Given the description of an element on the screen output the (x, y) to click on. 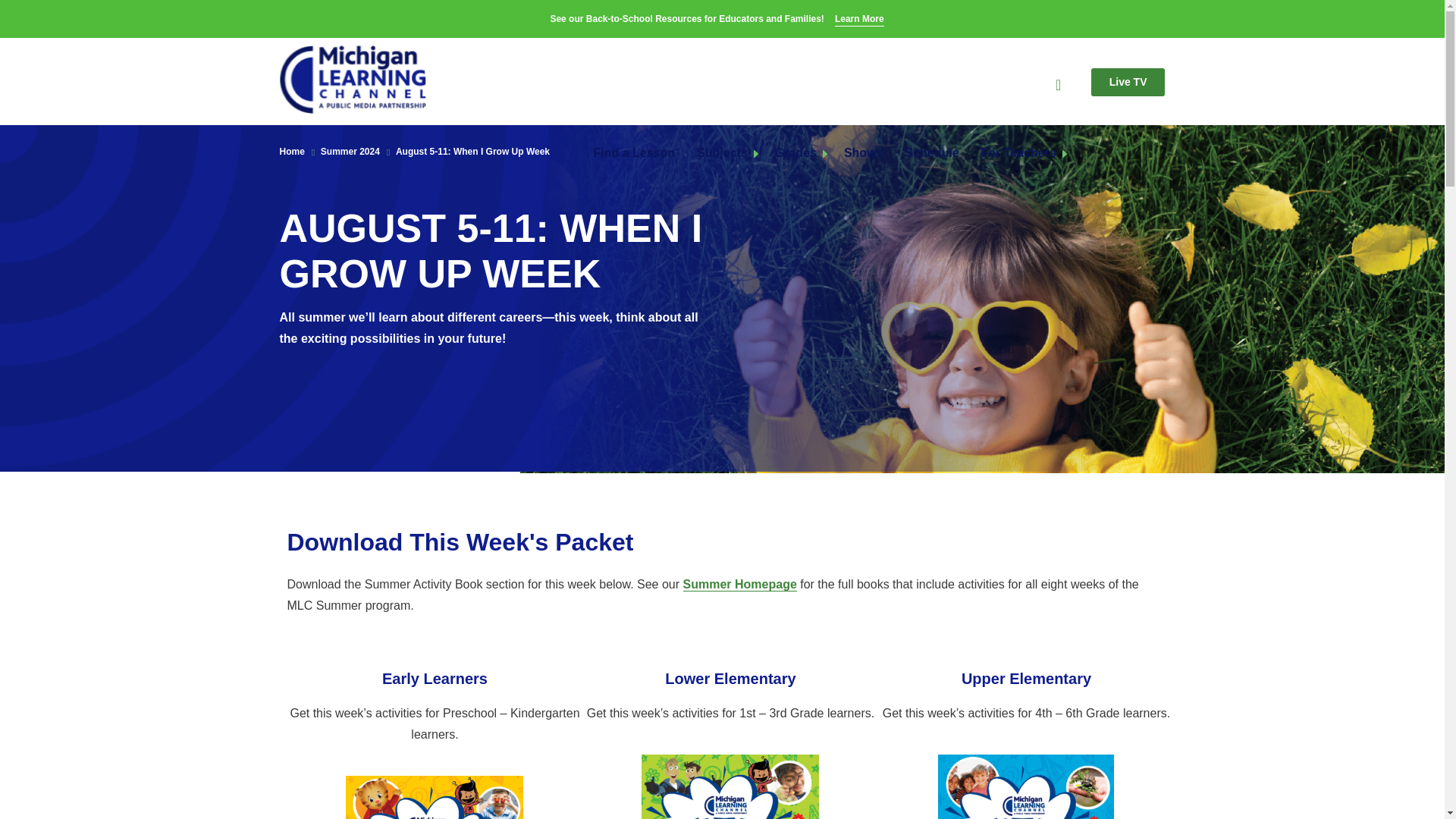
Go to Michigan Learning Channel. (291, 151)
Summer Homepage (739, 584)
Subjects (722, 153)
Grades (795, 153)
Go to Michigan Learning Channel Home. (352, 79)
Schedule (930, 153)
Go to Summer 2024. (350, 151)
For Teachers (1018, 153)
Home (291, 151)
Shows (864, 153)
